Given the description of an element on the screen output the (x, y) to click on. 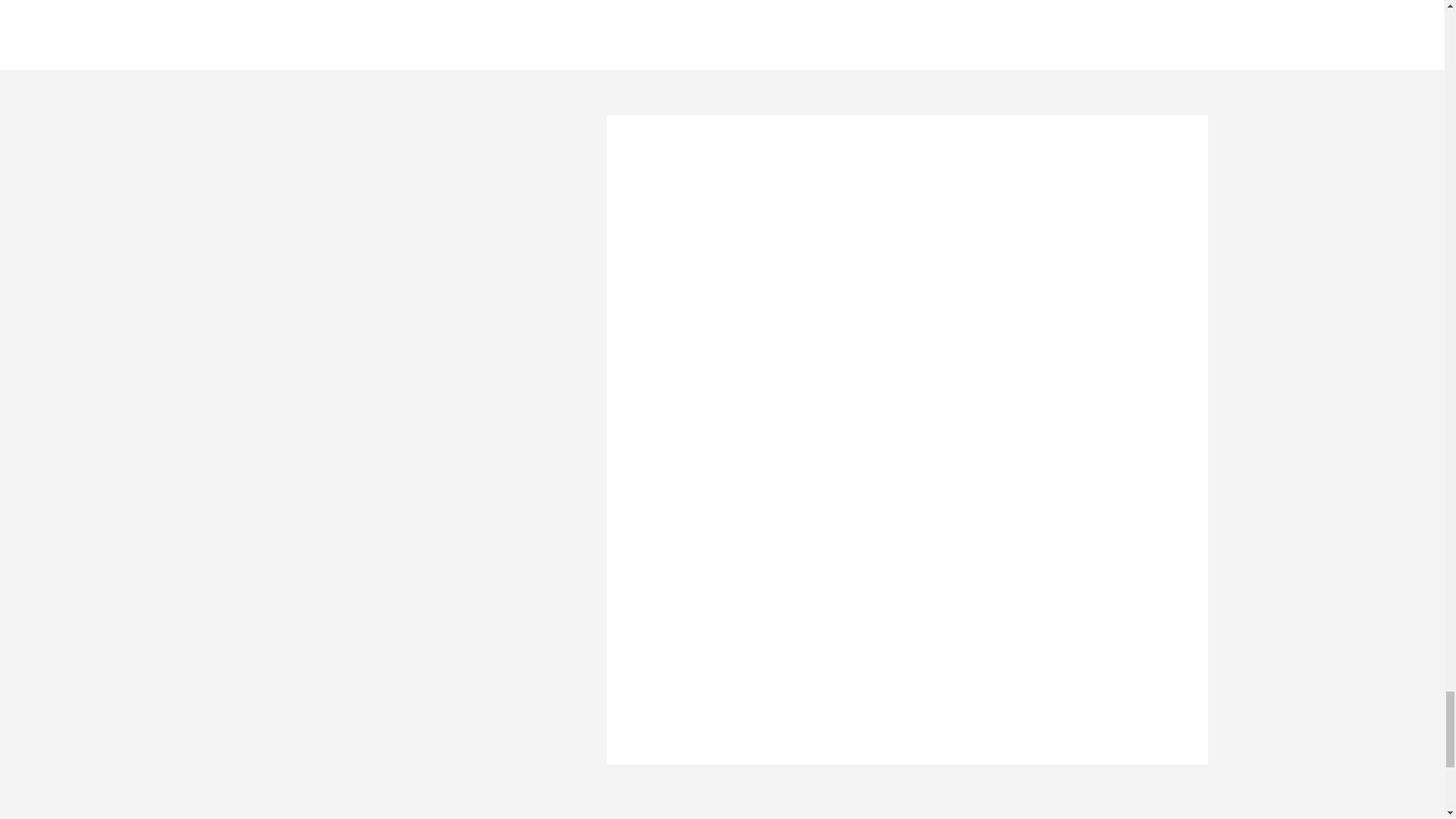
Schedule a Consultation (767, 679)
